Given the description of an element on the screen output the (x, y) to click on. 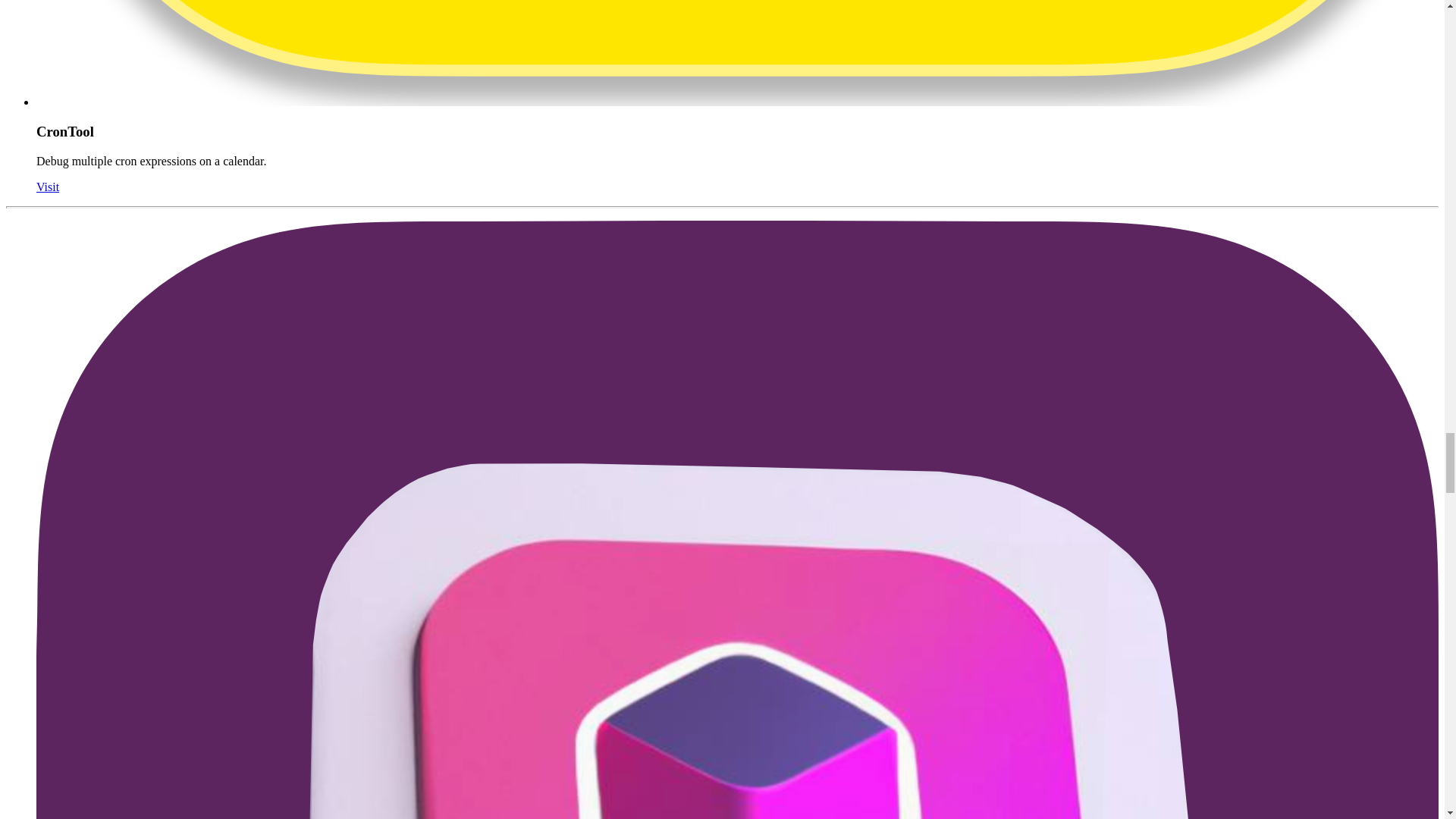
Visit (47, 186)
